Given the description of an element on the screen output the (x, y) to click on. 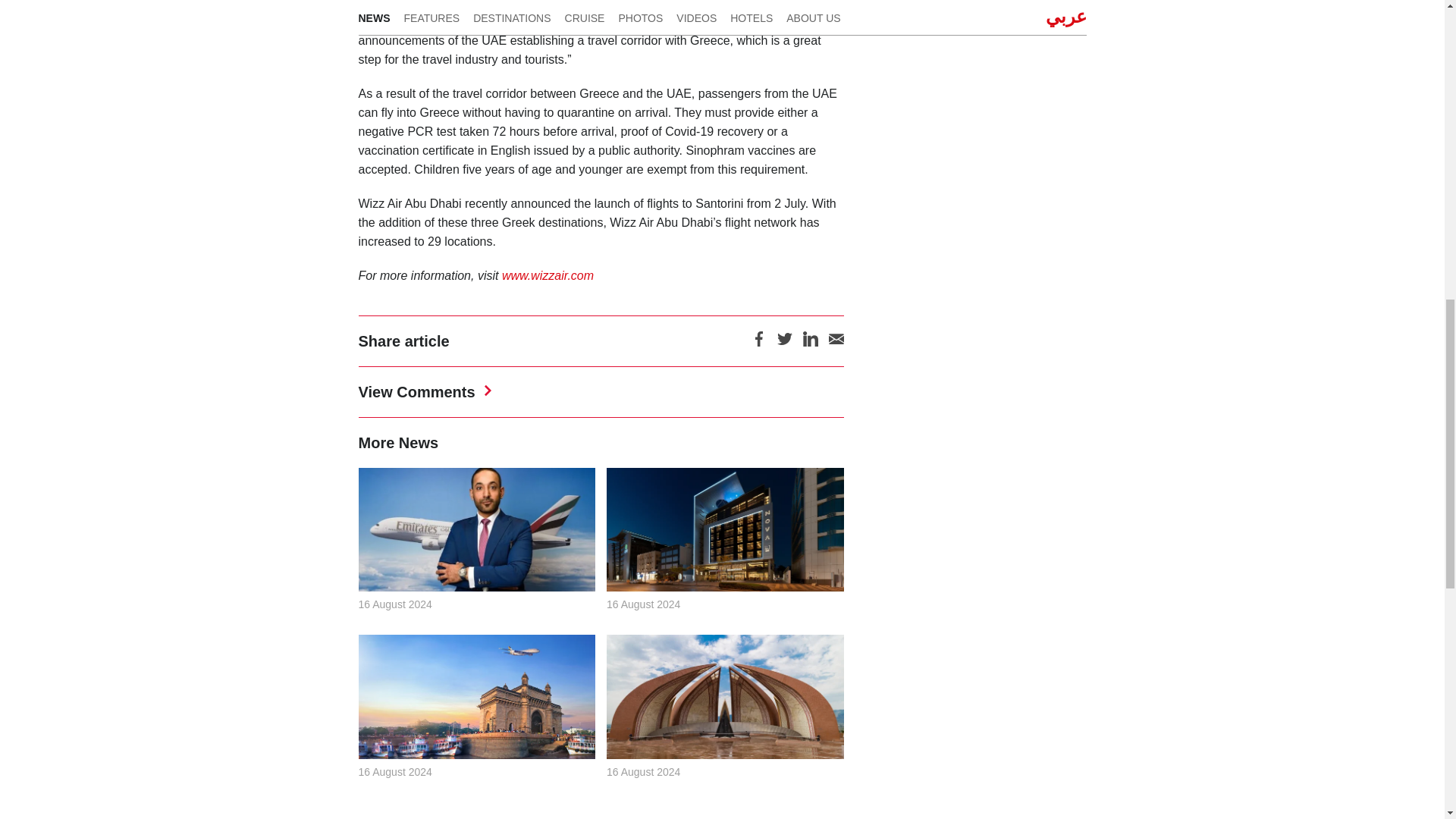
Share on Twitter (784, 343)
Share on LinkedIn (809, 343)
Share on Facebook (758, 343)
Share by email (835, 343)
